Given the description of an element on the screen output the (x, y) to click on. 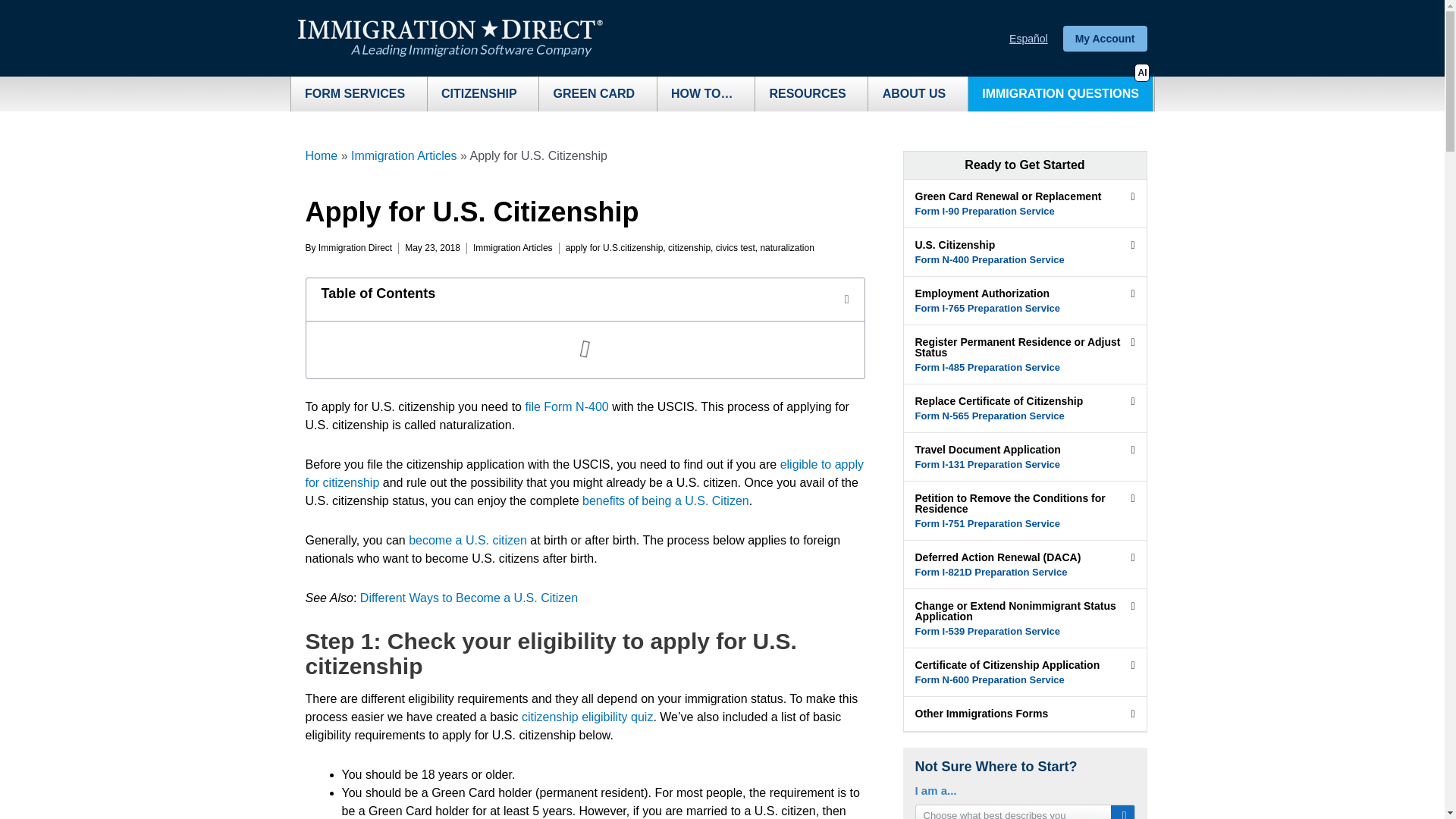
FORM SERVICES (358, 93)
RESOURCES (811, 93)
CITIZENSHIP (483, 93)
GREEN CARD (597, 93)
My Account (1104, 38)
